Given the description of an element on the screen output the (x, y) to click on. 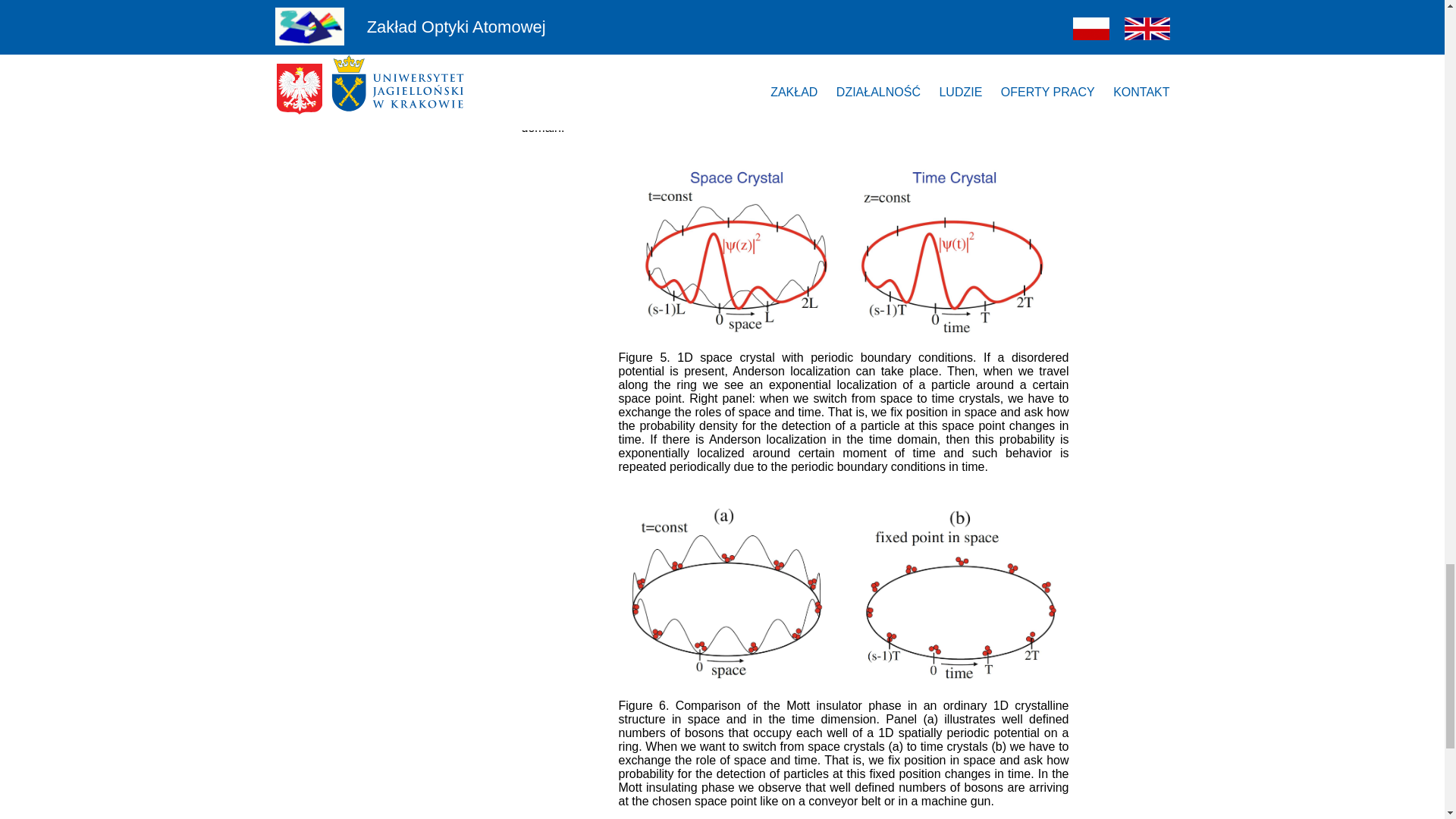
arxiv:2009.02344 (1015, 100)
